Given the description of an element on the screen output the (x, y) to click on. 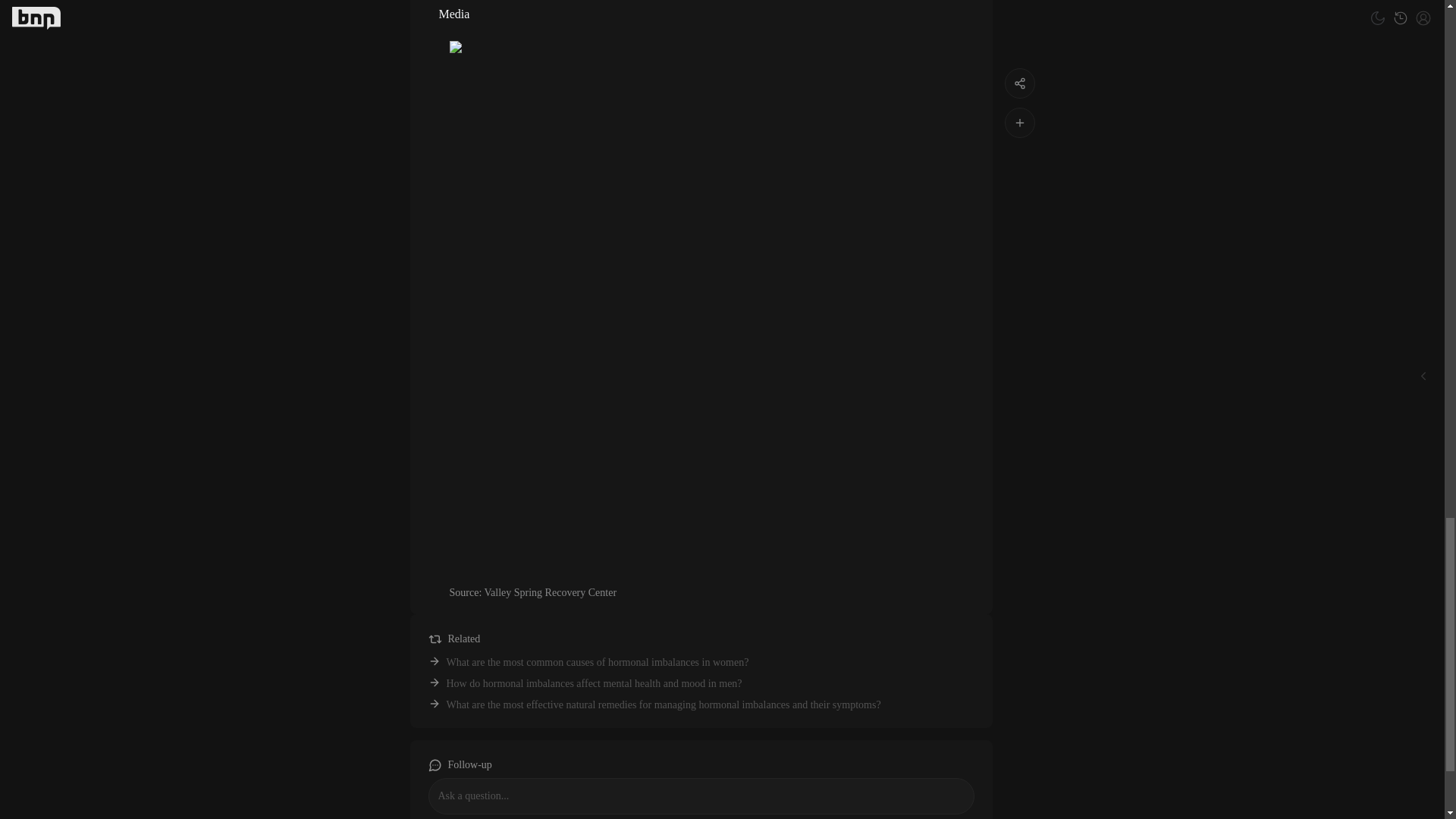
Valley Spring Recovery Center (550, 592)
